Given the description of an element on the screen output the (x, y) to click on. 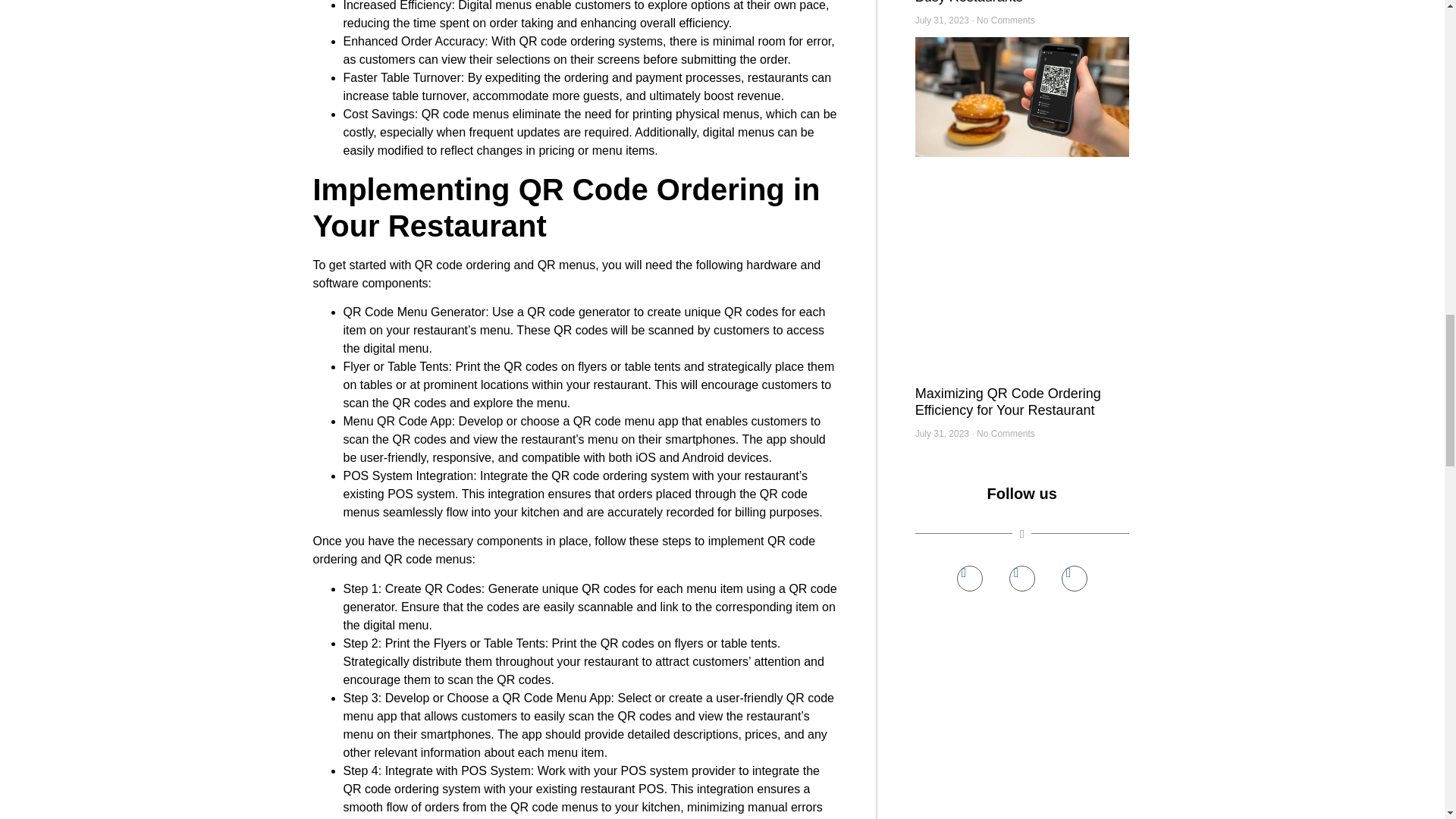
QR Code Ordering: A Solution for Busy Restaurants (1015, 2)
Follow us (1022, 493)
Maximizing QR Code Ordering Efficiency for Your Restaurant (1007, 401)
